Given the description of an element on the screen output the (x, y) to click on. 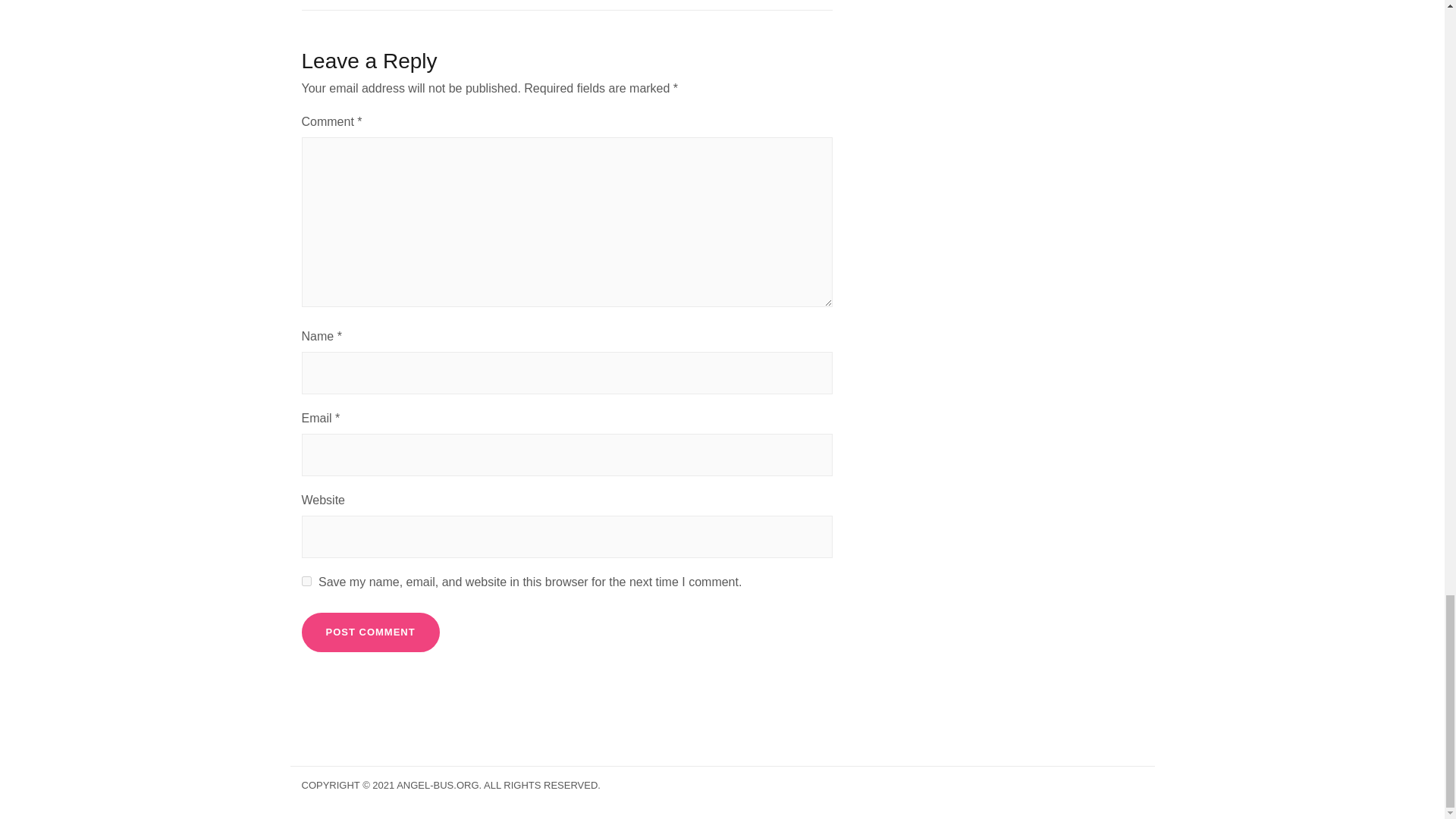
Post Comment (370, 631)
yes (306, 581)
Post Comment (370, 631)
